Given the description of an element on the screen output the (x, y) to click on. 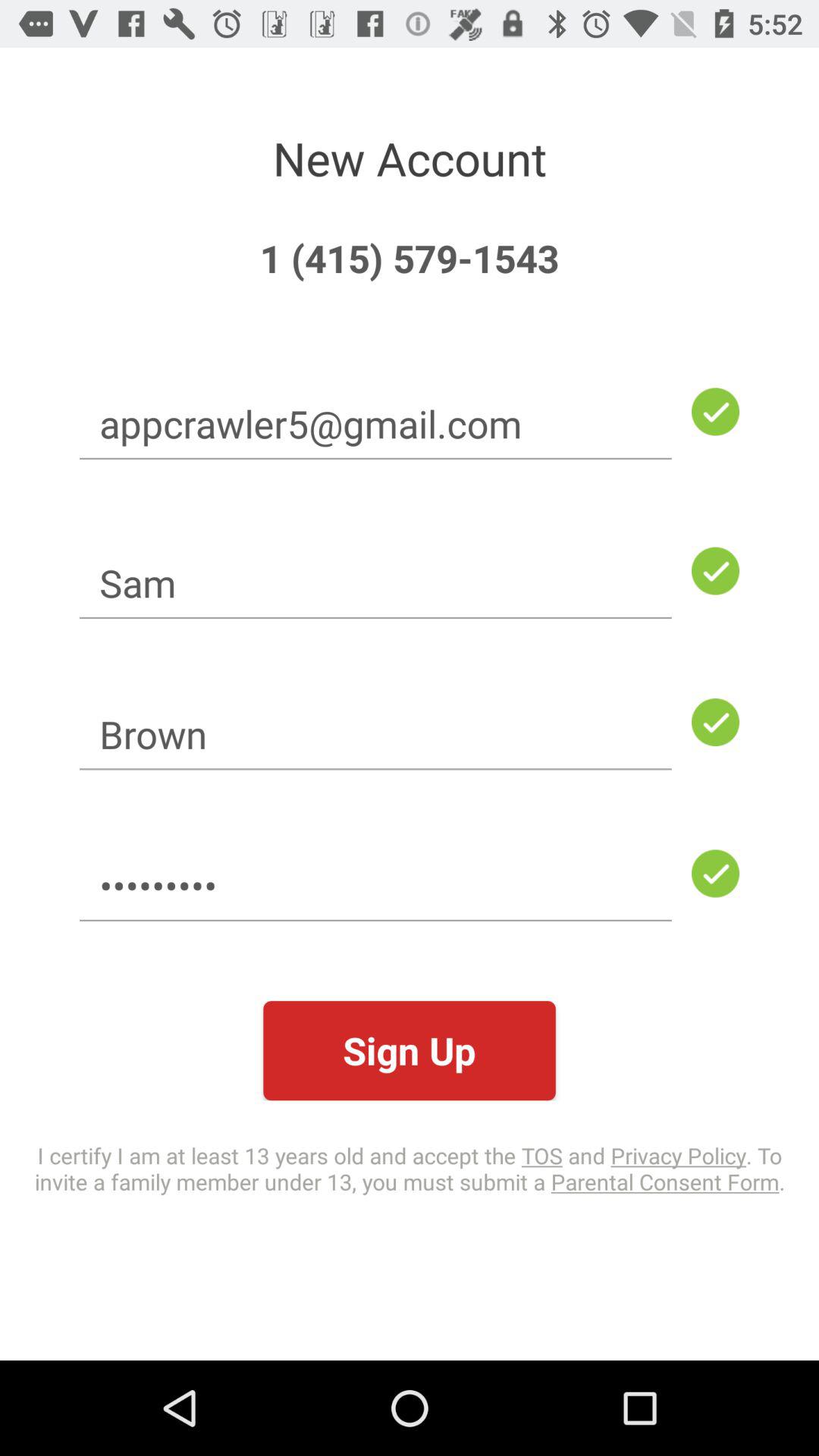
tap the crowd3116 item (375, 885)
